Given the description of an element on the screen output the (x, y) to click on. 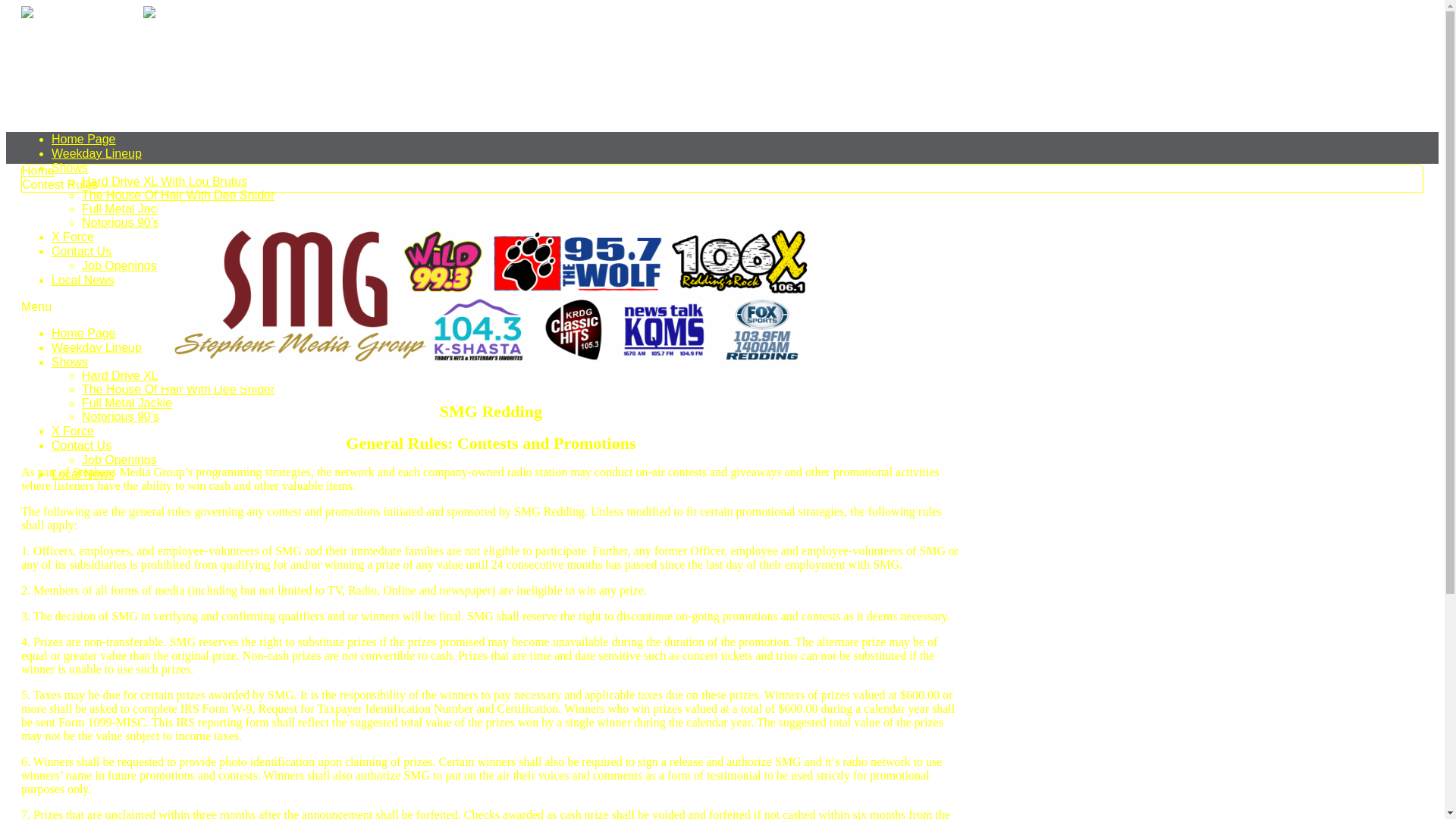
X Force Element type: text (72, 236)
Shows Element type: text (69, 361)
Redding's Rock 106X Element type: hover (141, 62)
Hard Drive XL With Lou Brutus Element type: text (164, 375)
Local News Element type: text (82, 279)
Home Page Element type: text (83, 138)
Weekday Lineup Element type: text (96, 153)
Job Openings Element type: text (118, 265)
Contact Us Element type: text (81, 445)
The House Of Hair With Dee Snider Element type: text (177, 388)
Full Metal Jackie Element type: text (126, 208)
The House Of Hair With Dee Snider Element type: text (177, 194)
Full Metal Jackie Element type: text (126, 402)
Hard Drive XL With Lou Brutus Element type: text (164, 181)
Weekday Lineup Element type: text (96, 347)
Home Element type: text (37, 170)
X Force Element type: text (72, 430)
Job Openings Element type: text (118, 459)
Shows Element type: text (69, 167)
Contact Us Element type: text (81, 250)
Home Page Element type: text (83, 332)
Local News Element type: text (82, 473)
